Given the description of an element on the screen output the (x, y) to click on. 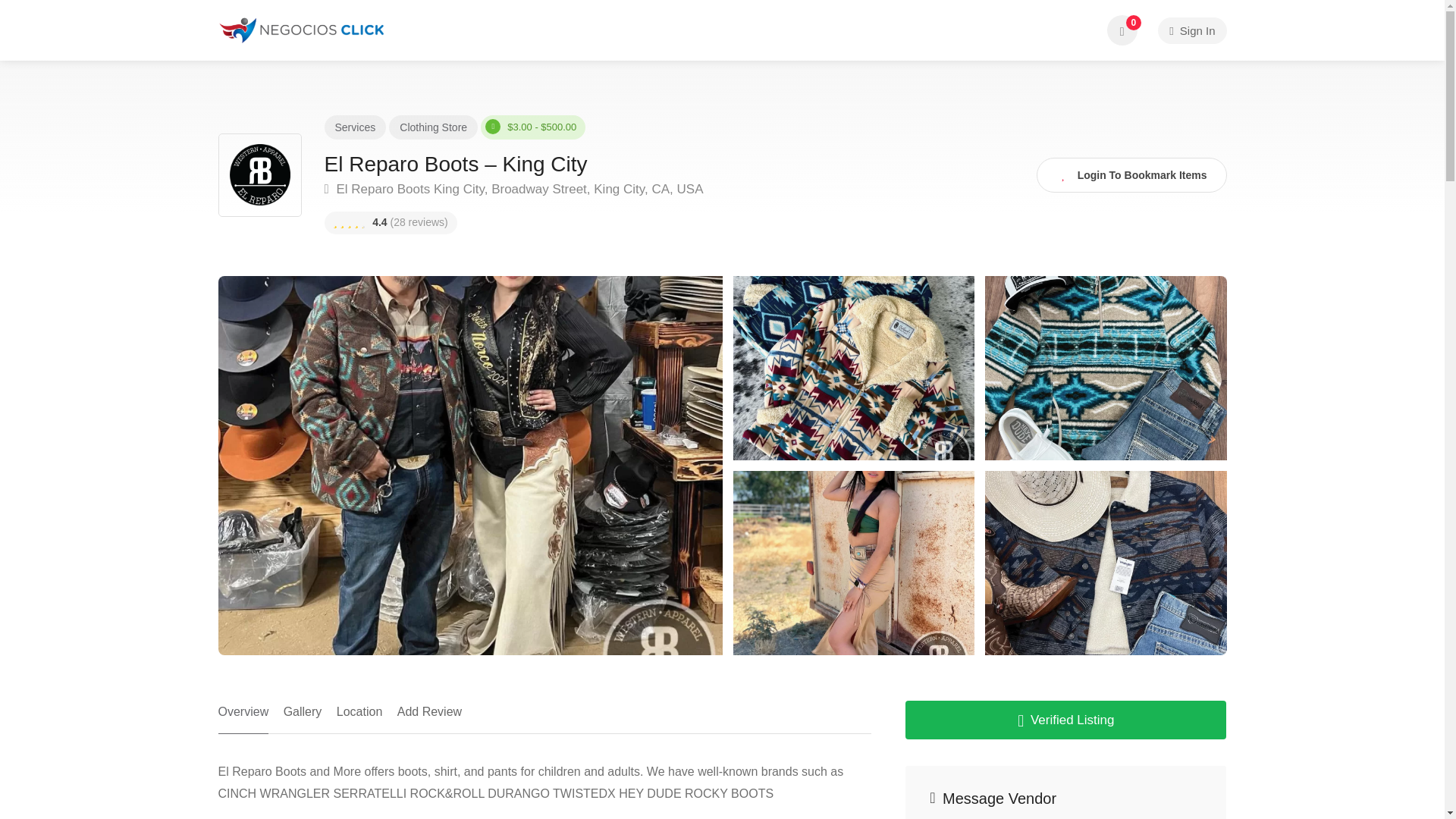
Gallery (302, 717)
Clothing Store (432, 127)
Overview (243, 717)
Sign In (1191, 30)
Location (359, 717)
Services (354, 127)
Login To Bookmark Items (1131, 175)
Negocios Click (302, 29)
Add Review (429, 717)
